Given the description of an element on the screen output the (x, y) to click on. 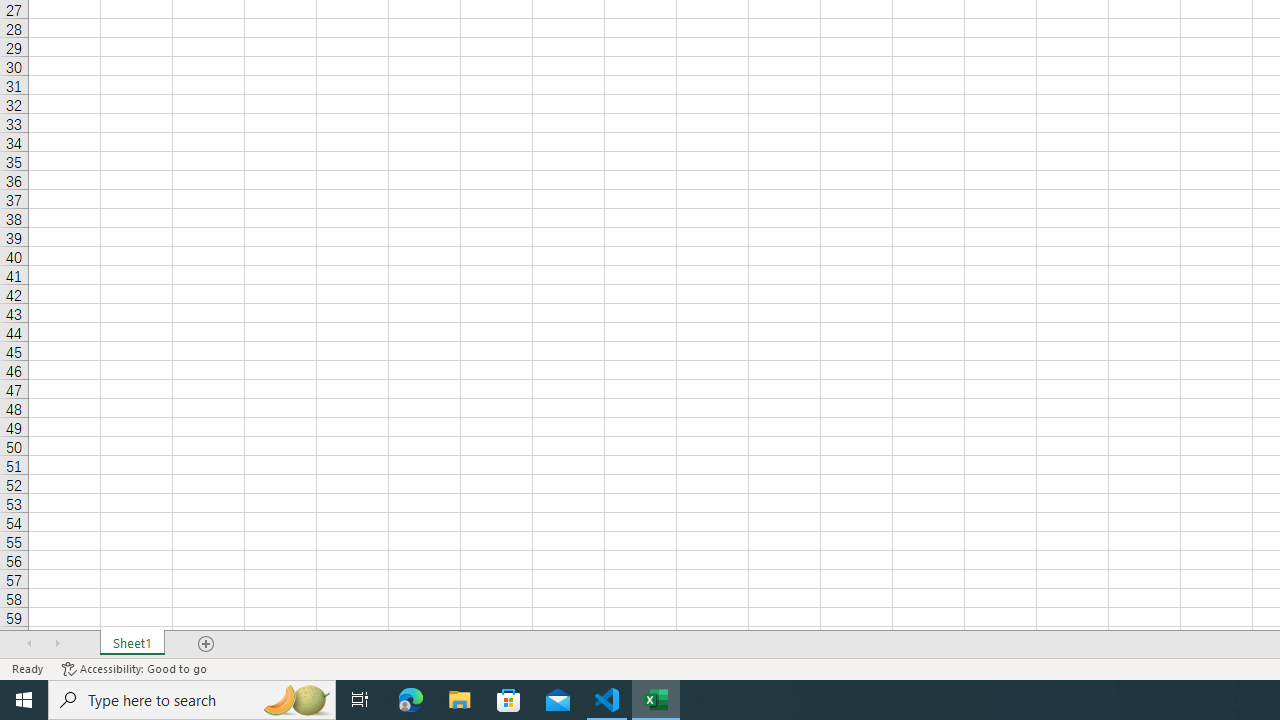
Scroll Right (57, 644)
Accessibility Checker Accessibility: Good to go (134, 668)
Sheet1 (132, 644)
Add Sheet (207, 644)
Scroll Left (29, 644)
